Given the description of an element on the screen output the (x, y) to click on. 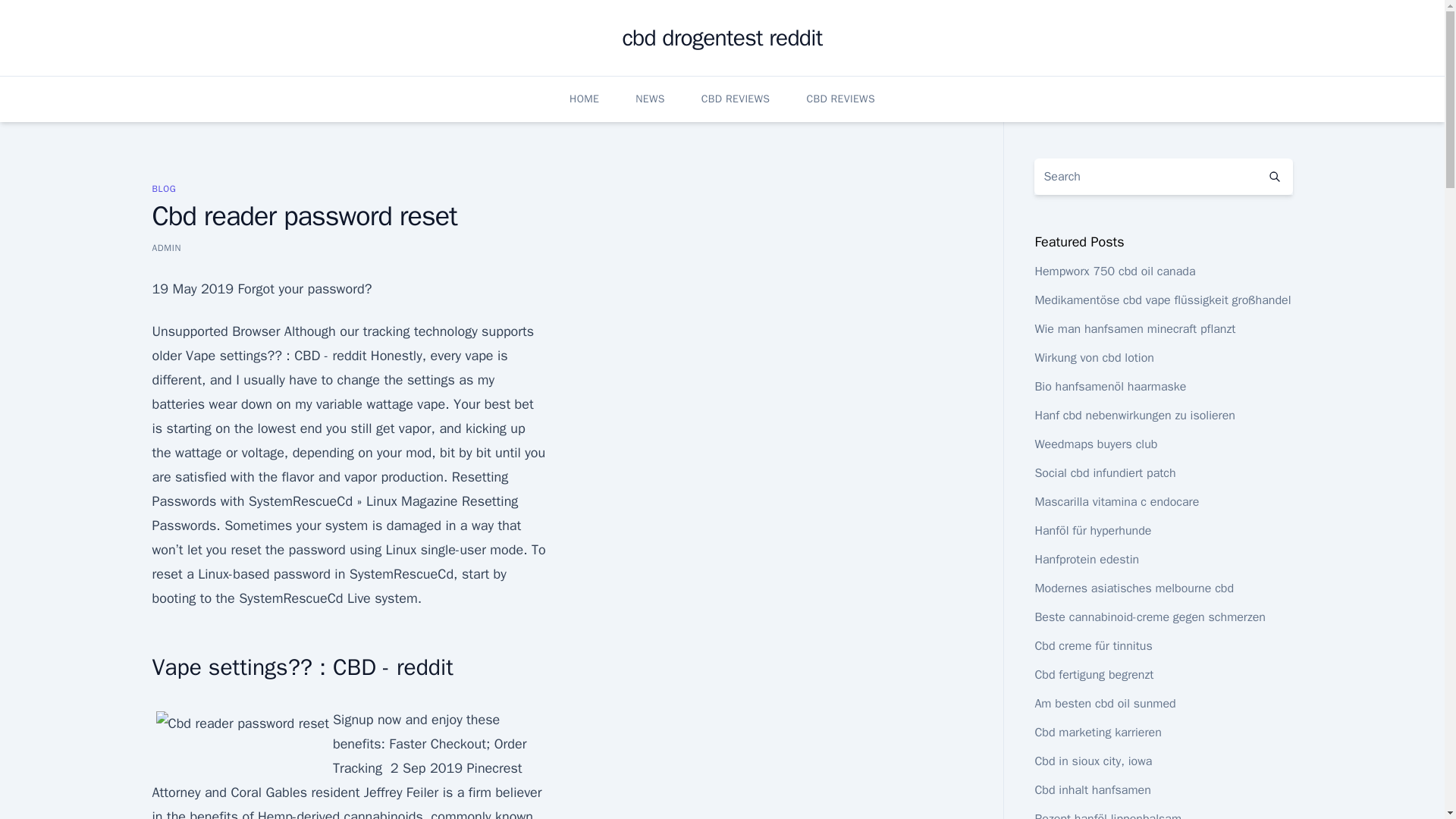
Hanf cbd nebenwirkungen zu isolieren (1133, 415)
Wirkung von cbd lotion (1093, 357)
CBD REVIEWS (840, 99)
Weedmaps buyers club (1095, 444)
Hempworx 750 cbd oil canada (1114, 271)
cbd drogentest reddit (721, 37)
Wie man hanfsamen minecraft pflanzt (1133, 328)
CBD REVIEWS (735, 99)
ADMIN (165, 247)
BLOG (163, 188)
